Given the description of an element on the screen output the (x, y) to click on. 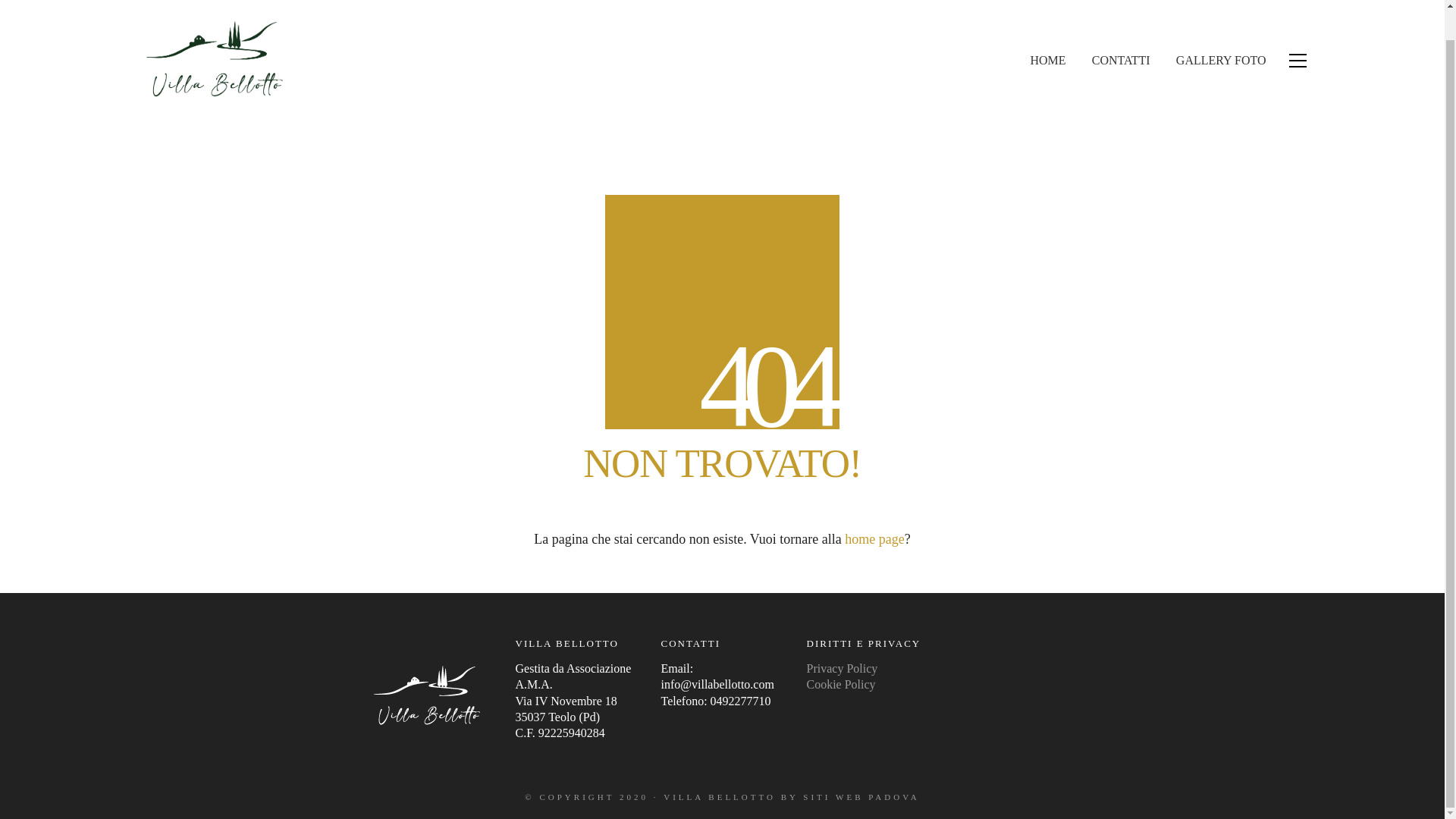
home page (874, 539)
Privacy Policy (841, 668)
VILLA BELLOTTO (719, 797)
GALLERY FOTO (1221, 59)
SITI WEB PADOVA (860, 797)
CONTATTI (1121, 59)
Cookie Policy (841, 684)
HOME (1047, 59)
